Given the description of an element on the screen output the (x, y) to click on. 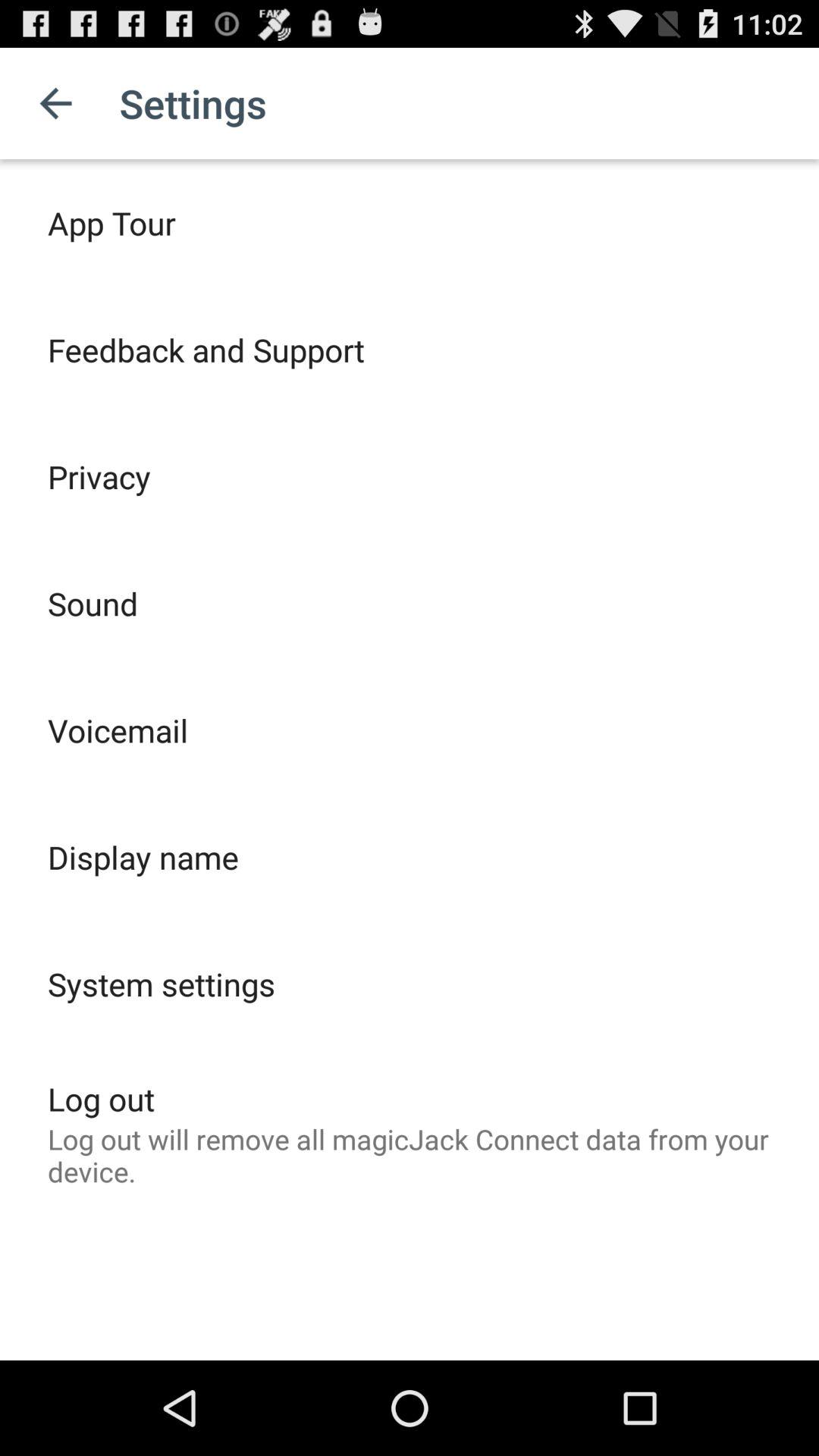
turn off the app tour item (111, 222)
